Given the description of an element on the screen output the (x, y) to click on. 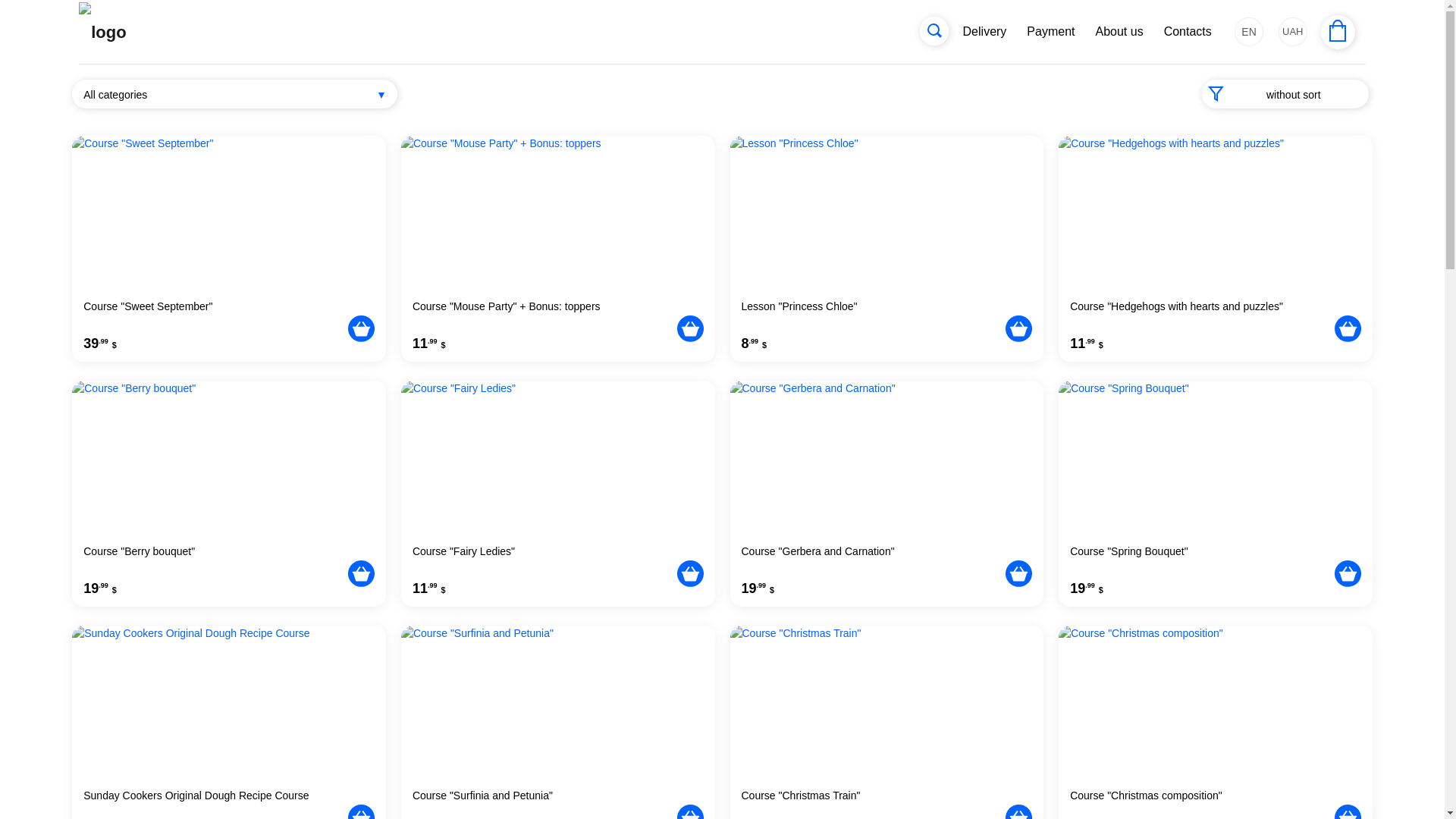
Lesson "Princess Chloe" (873, 313)
Course "Surfinia and Petunia" (544, 802)
UAH (1292, 31)
Course "Spring Bouquet" (1202, 558)
Sunday Cookers Original Dough Recipe Course (214, 802)
Course "Fairy Ledies" (544, 558)
About us (1119, 31)
All categories (234, 93)
Course "Berry bouquet" (214, 558)
Payment (1050, 31)
